Given the description of an element on the screen output the (x, y) to click on. 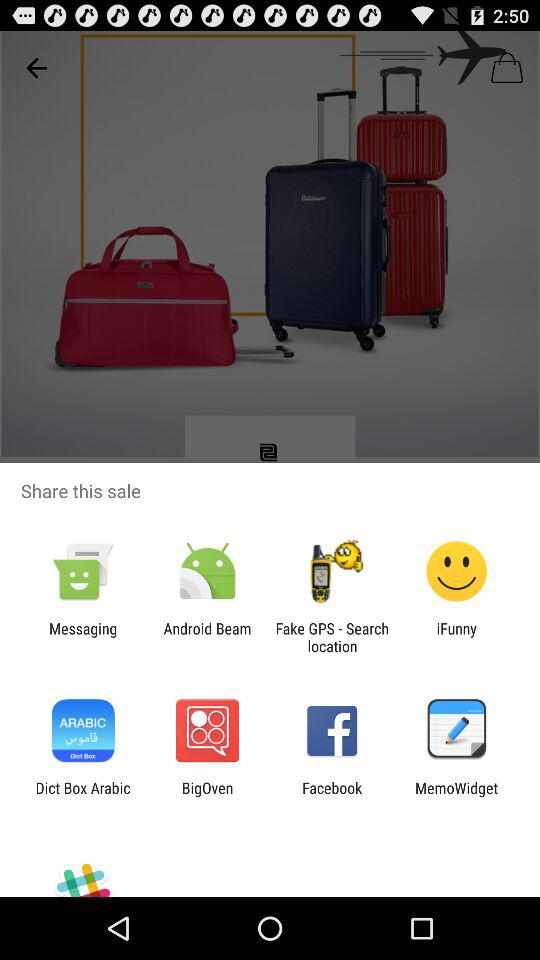
tap icon next to the memowidget icon (332, 796)
